Given the description of an element on the screen output the (x, y) to click on. 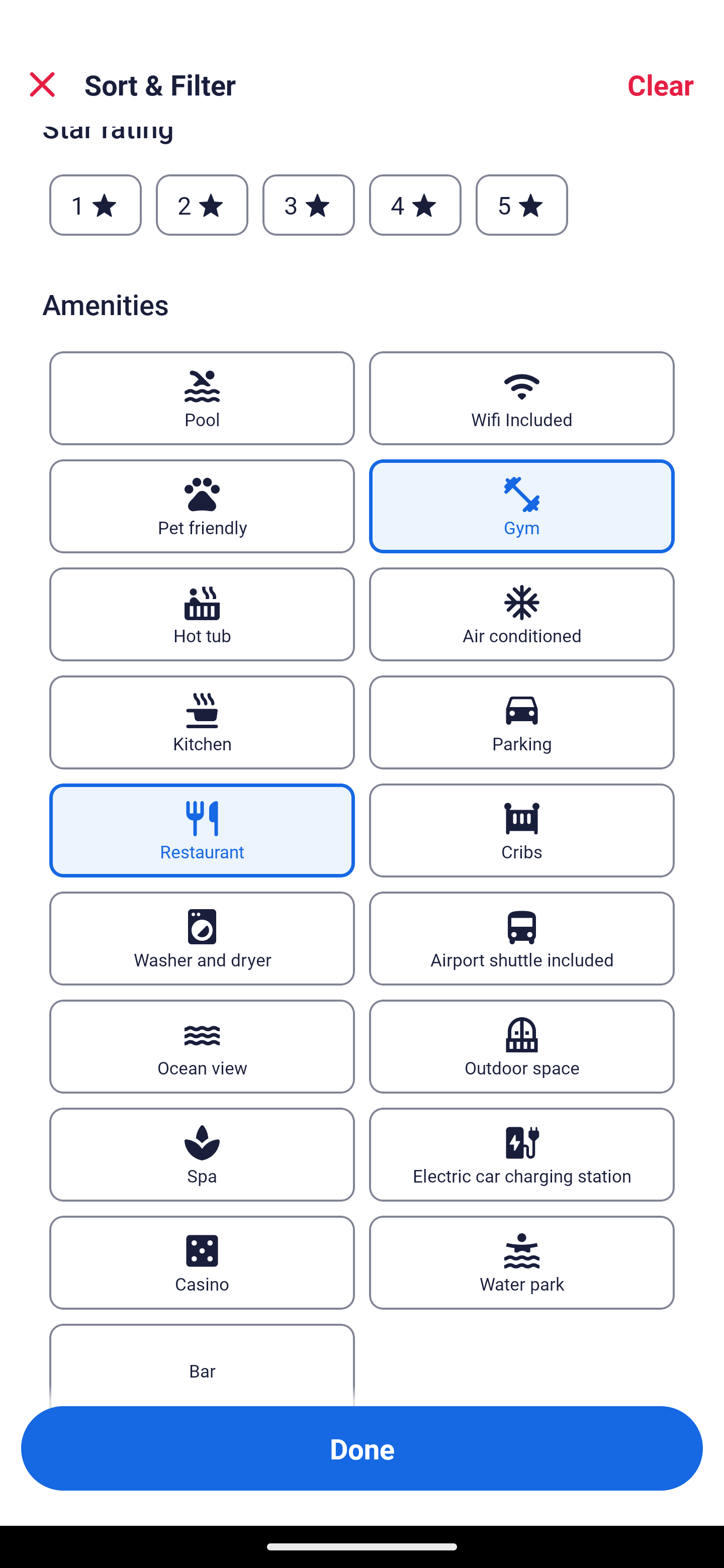
Close Sort and Filter (42, 84)
Clear (660, 84)
1 (95, 205)
2 (201, 205)
3 (308, 205)
4 (415, 205)
5 (521, 205)
Pool (201, 398)
Wifi Included (521, 398)
Pet friendly (201, 506)
Gym (521, 506)
Hot tub (201, 614)
Air conditioned (521, 614)
Kitchen (201, 722)
Parking (521, 722)
Restaurant (201, 831)
Cribs (521, 831)
Washer and dryer (201, 939)
Airport shuttle included (521, 939)
Ocean view (201, 1046)
Outdoor space (521, 1046)
Spa (201, 1154)
Electric car charging station (521, 1154)
Casino (201, 1262)
Water park (521, 1262)
Bar (201, 1364)
Apply and close Sort and Filter Done (361, 1448)
